Given the description of an element on the screen output the (x, y) to click on. 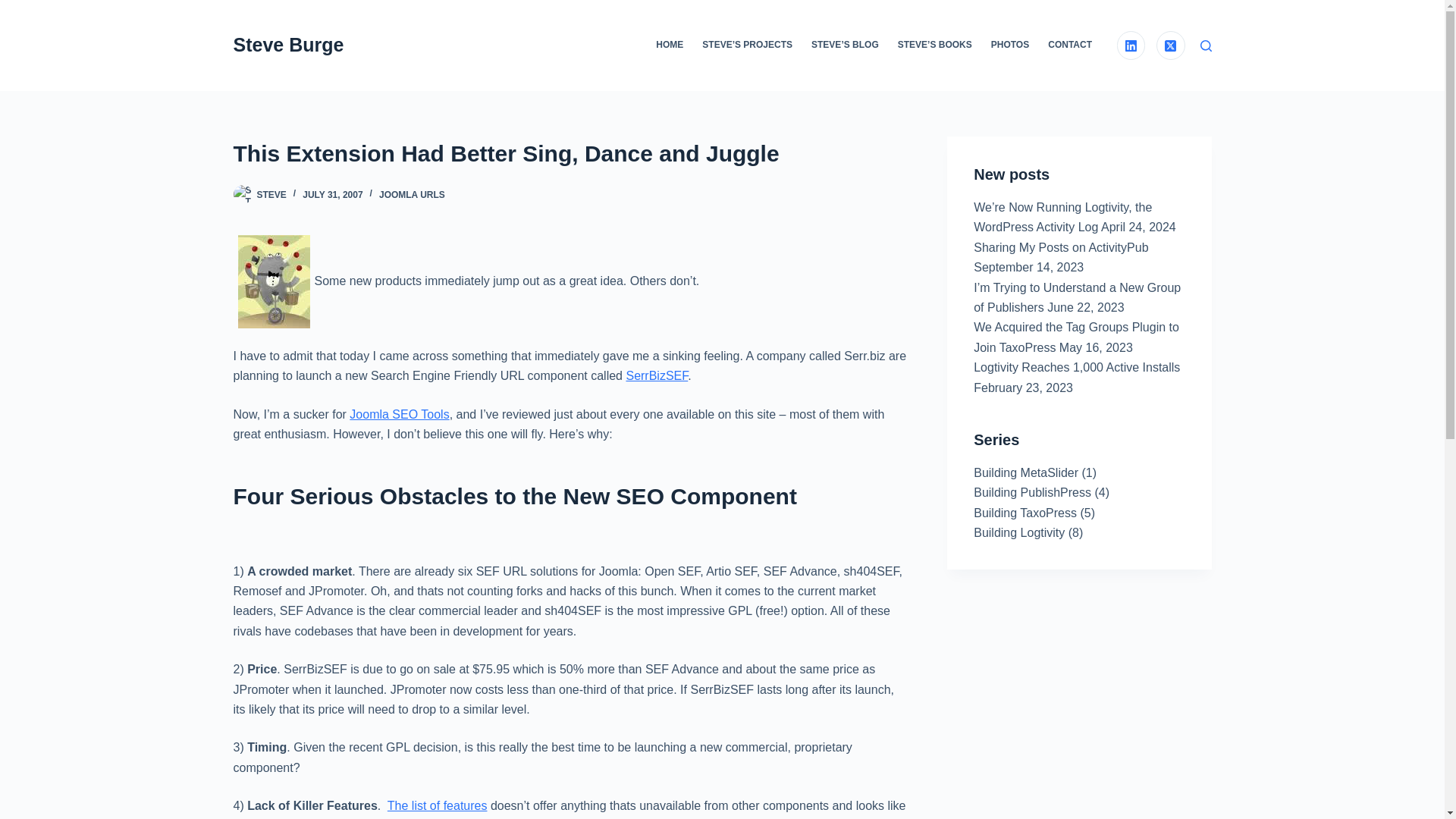
Building TaxoPress (1025, 512)
Posts by Steve (270, 194)
JOOMLA URLS (411, 194)
Skip to content (15, 7)
We Acquired the Tag Groups Plugin to Join TaxoPress (1076, 336)
Building Logtivity (1019, 532)
Steve Burge (287, 44)
Building PublishPress (1032, 492)
Sharing My Posts on ActivityPub (1061, 246)
Joomla SEO Tools (398, 413)
